Given the description of an element on the screen output the (x, y) to click on. 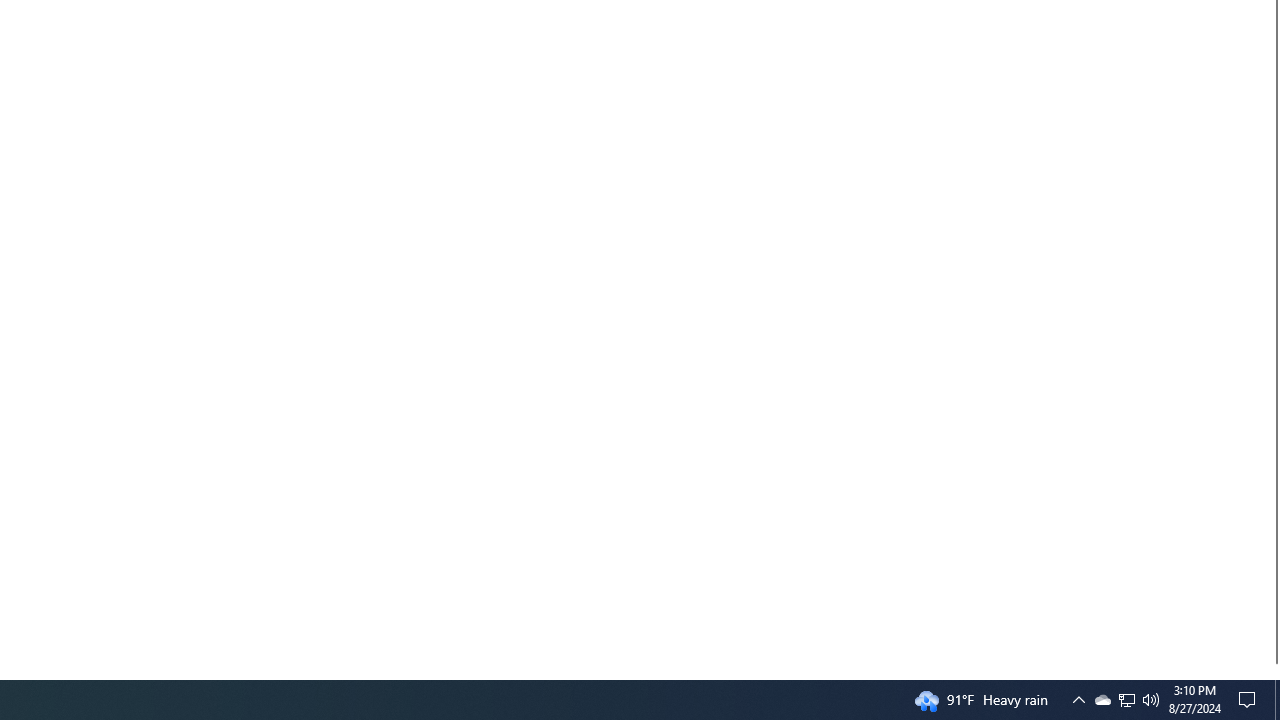
Vertical Small Increase (1272, 671)
